Given the description of an element on the screen output the (x, y) to click on. 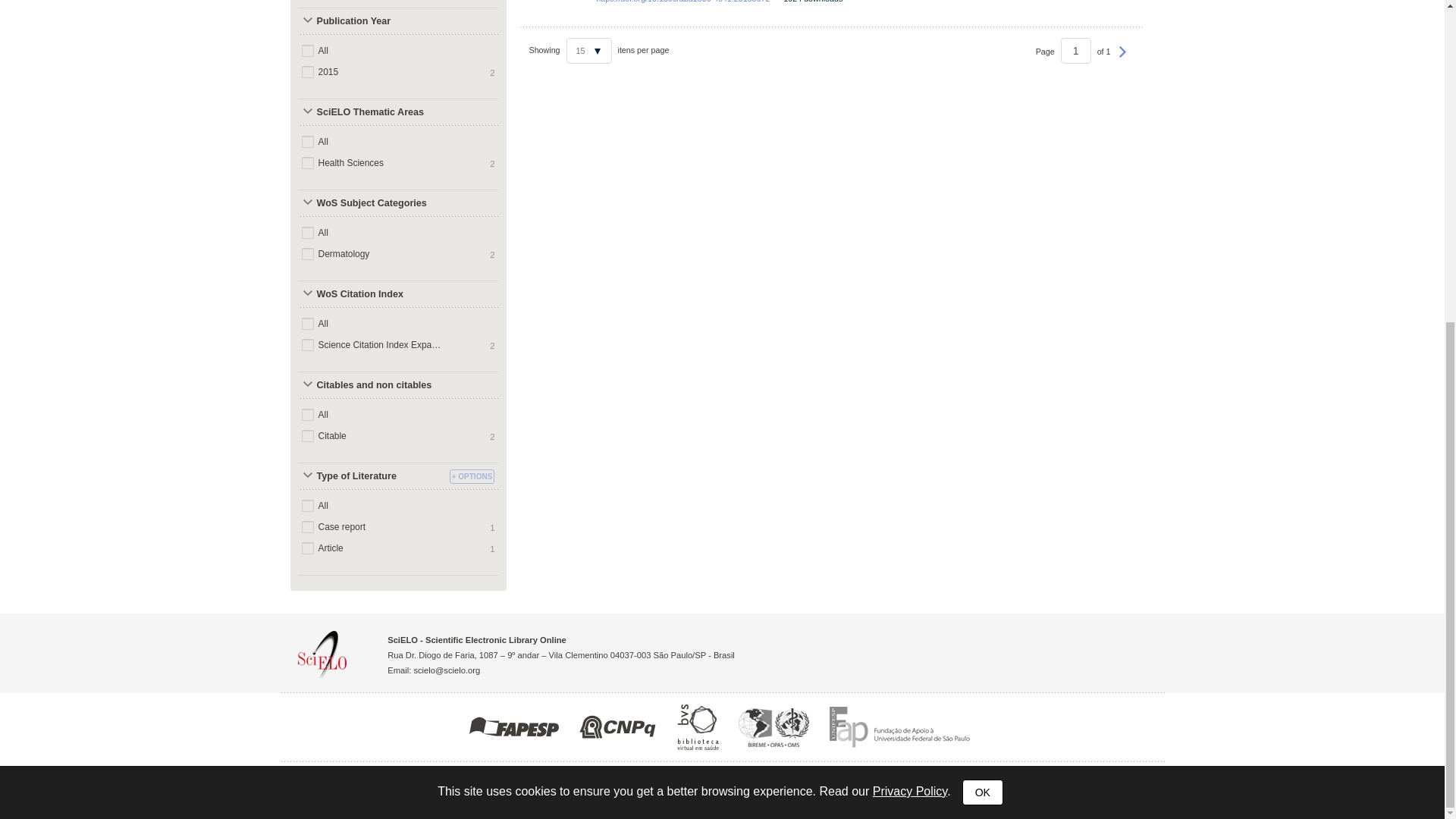
SciELO Thematic Areas (371, 112)
Citables and non citables (371, 385)
Citables and non citables (371, 385)
1 (1075, 50)
Options (472, 476)
WoS Citation Index (371, 294)
Type of Literature (371, 476)
Type of Literature (371, 476)
Publication Year (371, 21)
SciELO Thematic Areas (371, 112)
Publication Year (371, 21)
WoS Subject Categories (371, 203)
WoS Citation Index (371, 294)
WoS Subject Categories (371, 203)
